Given the description of an element on the screen output the (x, y) to click on. 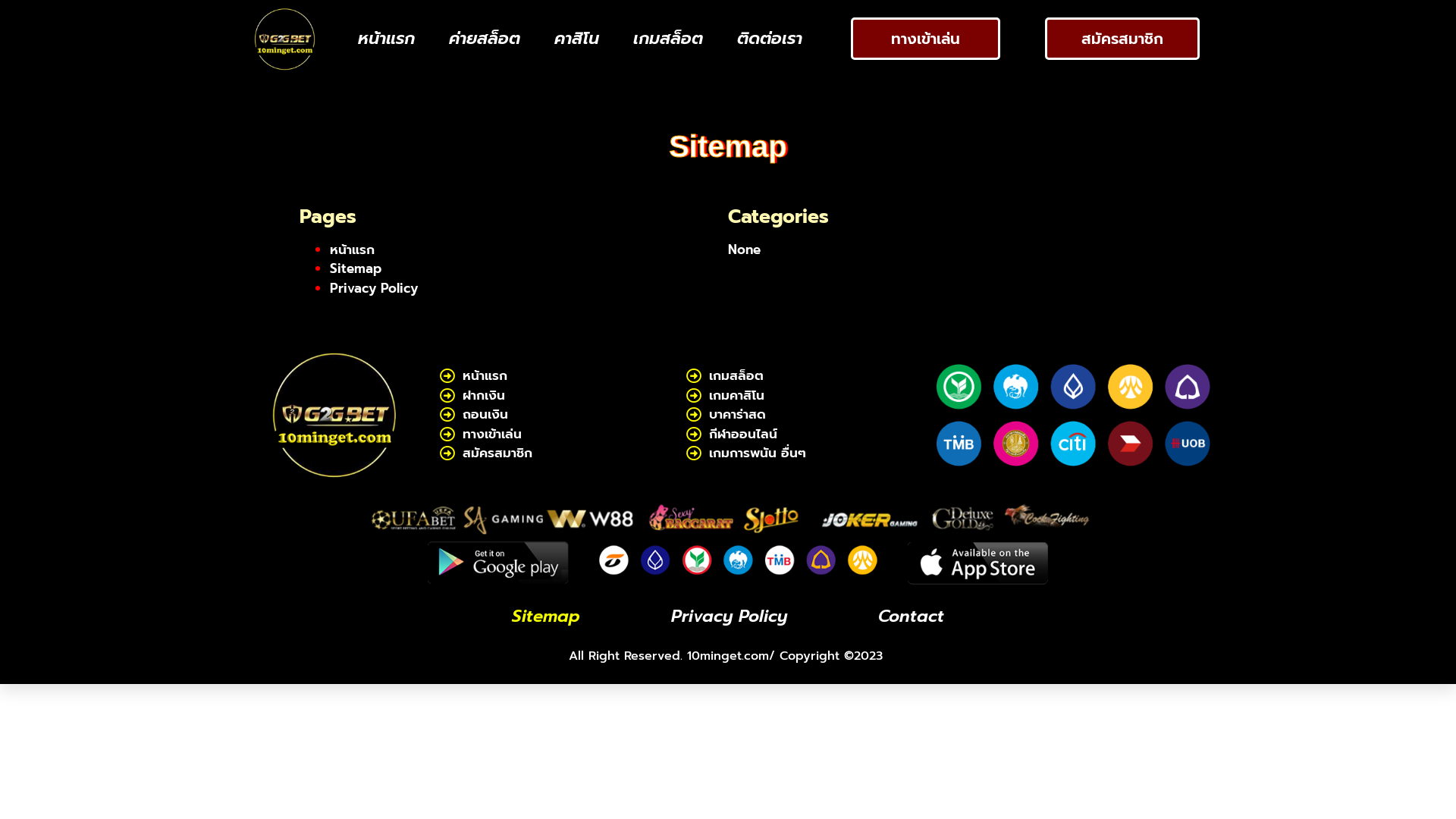
Sitemap Element type: text (355, 268)
Sitemap Element type: text (545, 616)
Privacy Policy Element type: text (728, 616)
Contact Element type: text (910, 616)
Privacy Policy Element type: text (373, 287)
